Given the description of an element on the screen output the (x, y) to click on. 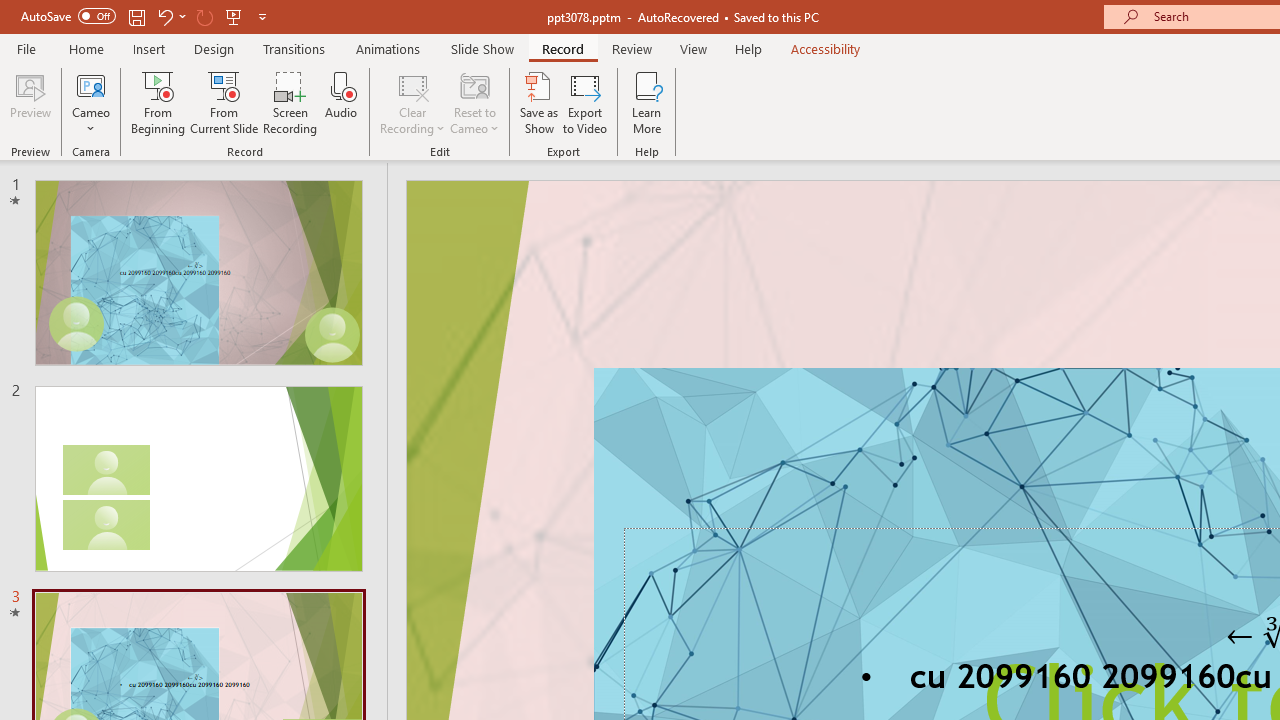
From Current Slide... (224, 102)
Screen Recording (290, 102)
Reset to Cameo (474, 102)
Learn More (646, 102)
